Given the description of an element on the screen output the (x, y) to click on. 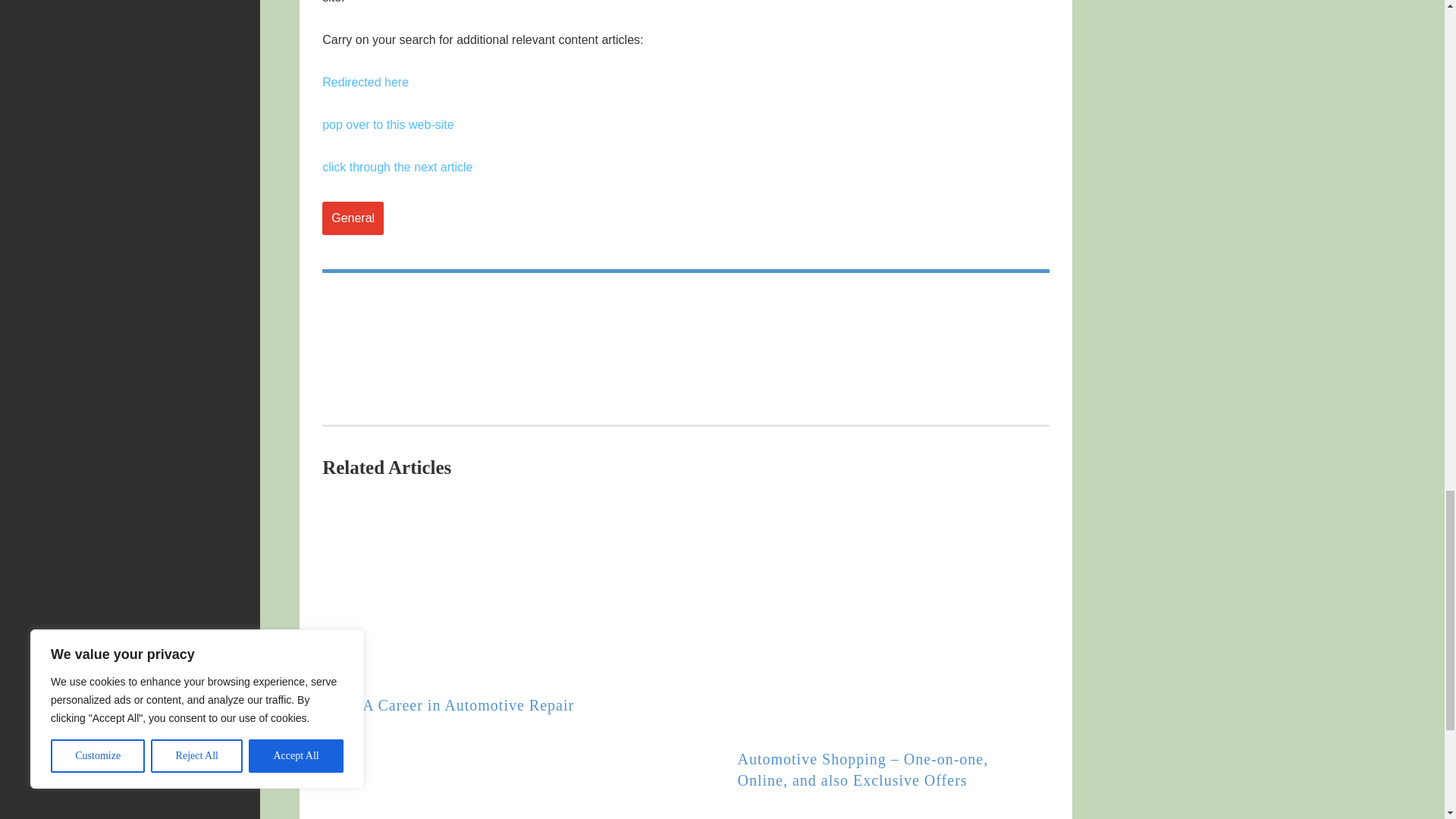
pop over to this web-site (386, 124)
click through the next article (396, 166)
A Career in Automotive Repair (467, 704)
Redirected here (365, 82)
General (352, 218)
